Given the description of an element on the screen output the (x, y) to click on. 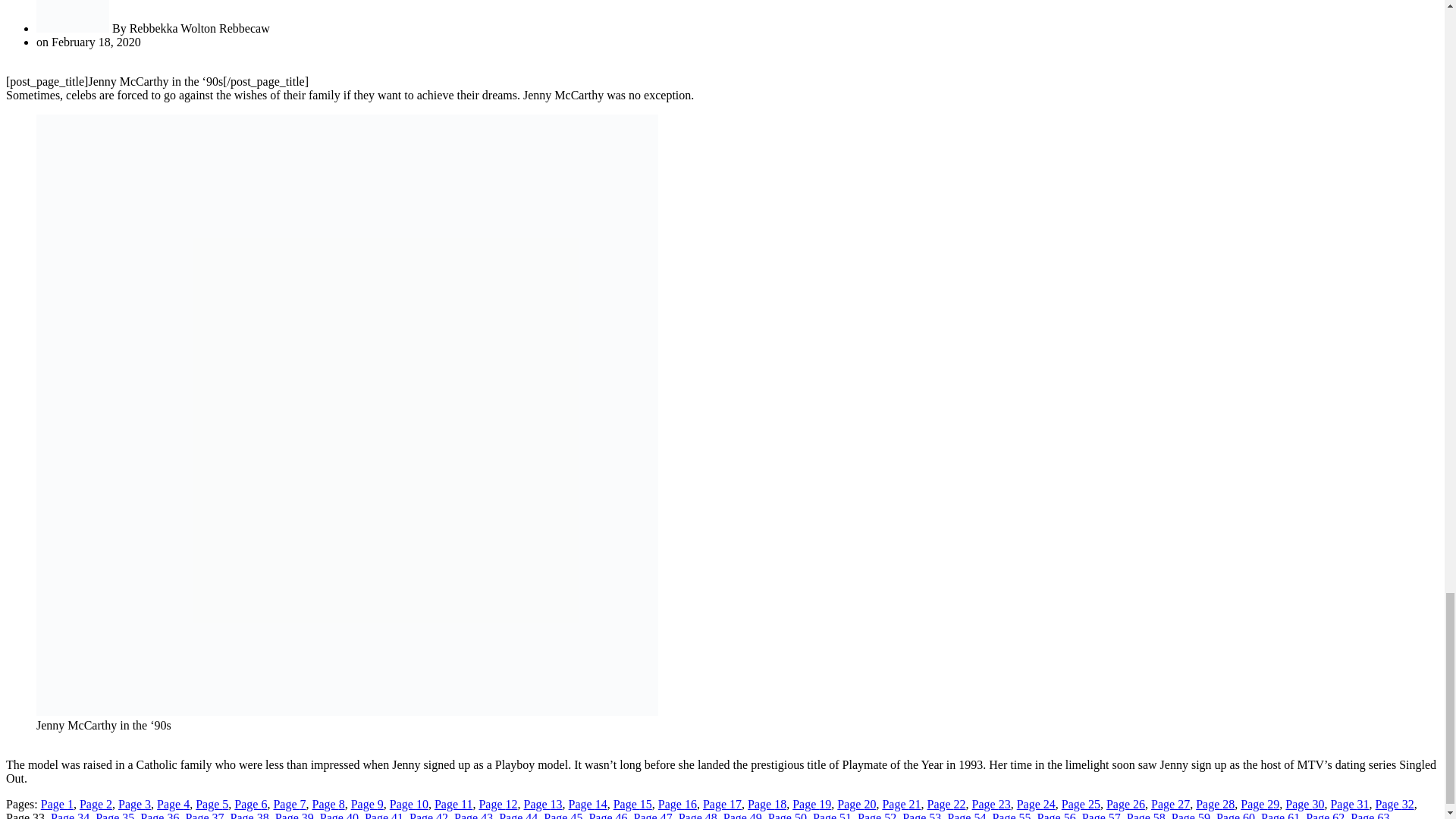
Page 6 (250, 803)
Page 13 (542, 803)
Page 22 (945, 803)
Page 7 (289, 803)
Page 20 (856, 803)
Page 15 (632, 803)
Page 1 (57, 803)
Page 17 (722, 803)
Page 14 (588, 803)
Page 11 (453, 803)
Page 8 (329, 803)
Page 18 (767, 803)
Page 19 (811, 803)
Page 10 (409, 803)
Page 16 (677, 803)
